Given the description of an element on the screen output the (x, y) to click on. 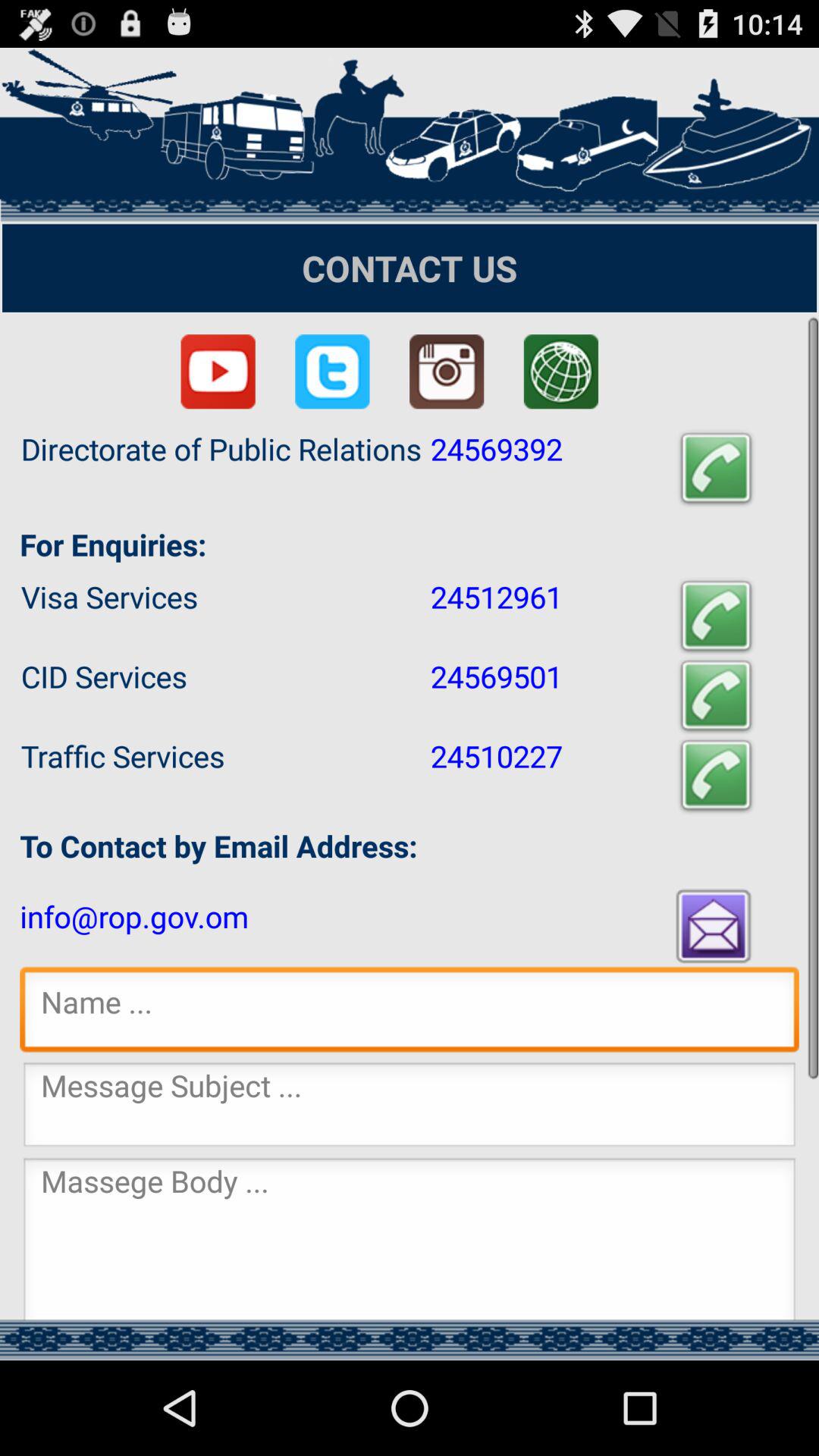
share via twitter icon (332, 371)
